Given the description of an element on the screen output the (x, y) to click on. 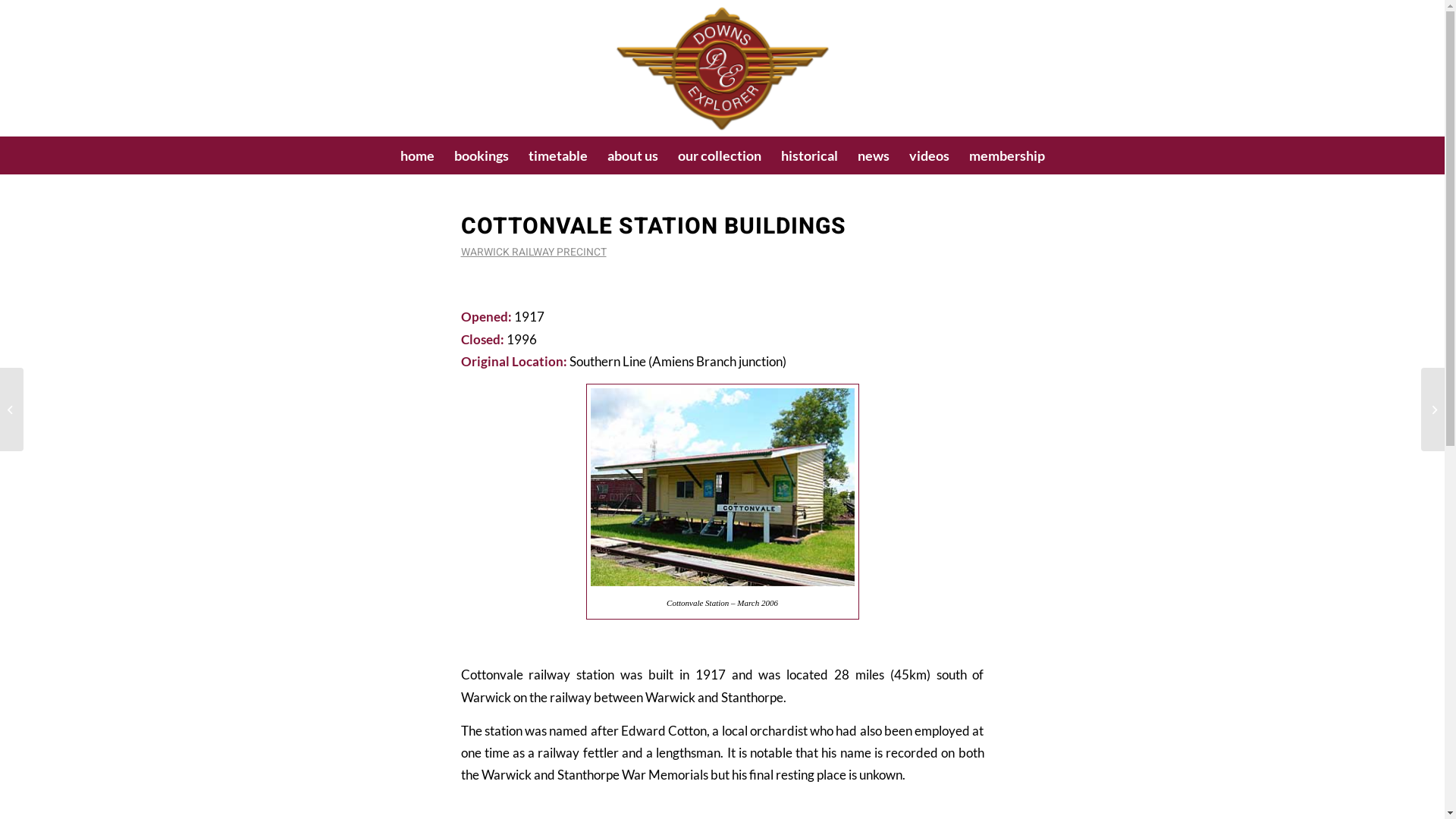
about us Element type: text (632, 155)
historical Element type: text (808, 155)
home Element type: text (416, 155)
WARWICK RAILWAY PRECINCT Element type: text (533, 252)
downsexplorer.org.au_official_logo_full_colour Element type: hover (721, 68)
our collection Element type: text (718, 155)
videos Element type: text (929, 155)
timetable Element type: text (557, 155)
membership Element type: text (1006, 155)
bookings Element type: text (481, 155)
news Element type: text (873, 155)
